Given the description of an element on the screen output the (x, y) to click on. 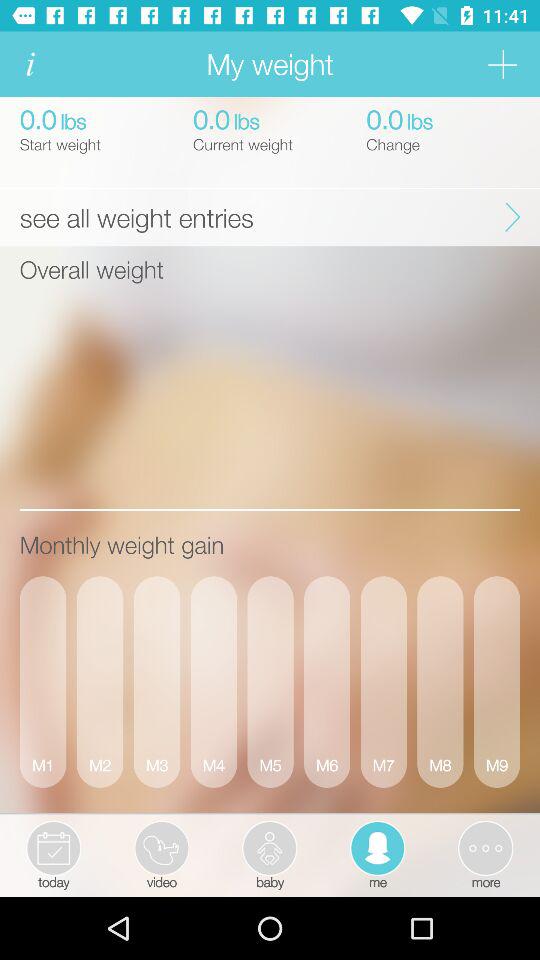
go additional tab (502, 63)
